Given the description of an element on the screen output the (x, y) to click on. 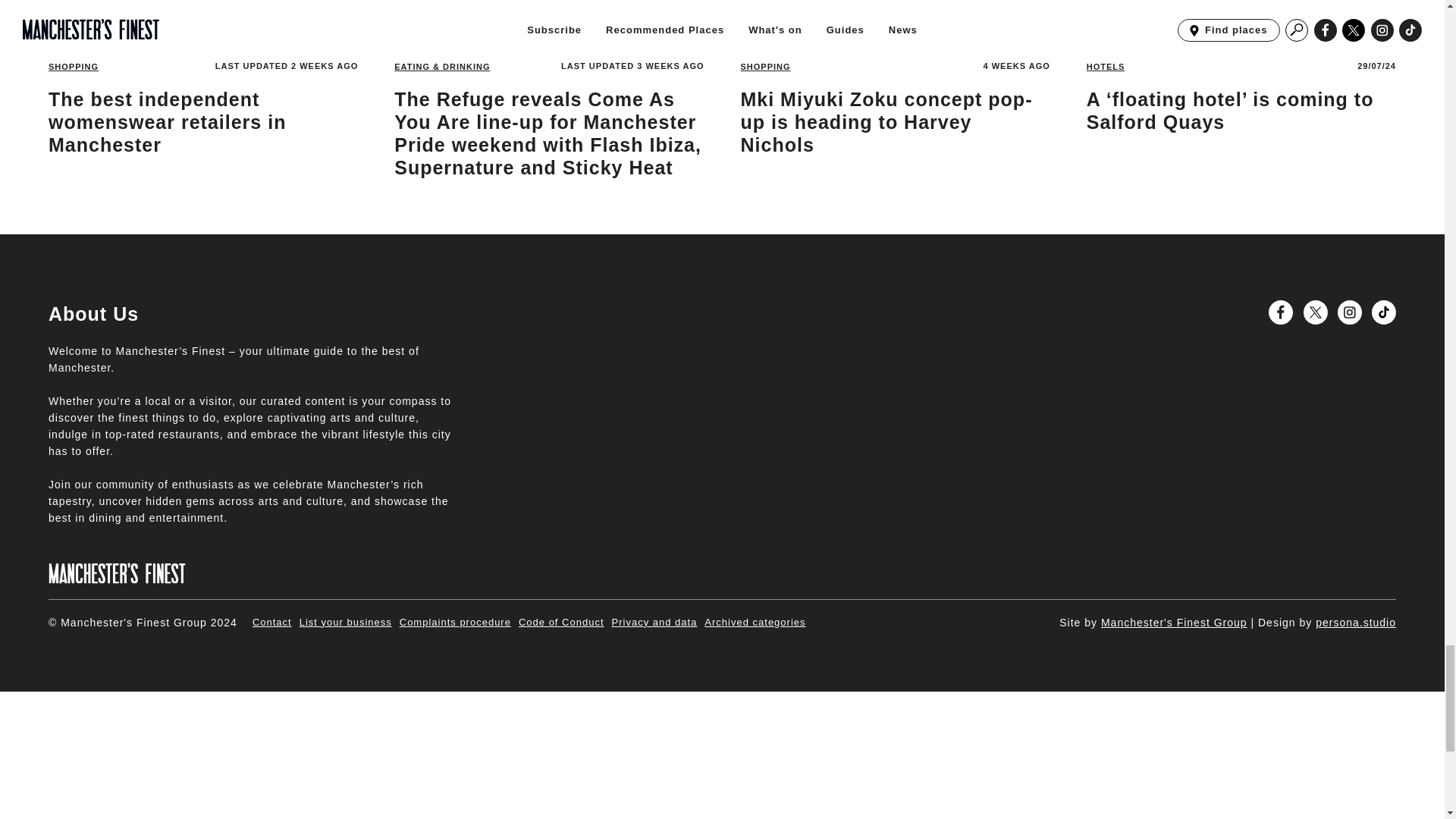
Go to Manchester's Finest Facebook page (1280, 312)
Go to Manchester's Finest X profile (1315, 312)
Go to Manchester's Finest Instagram profile (1349, 312)
Go to Manchester's Finest TikTok profile (1383, 312)
